Given the description of an element on the screen output the (x, y) to click on. 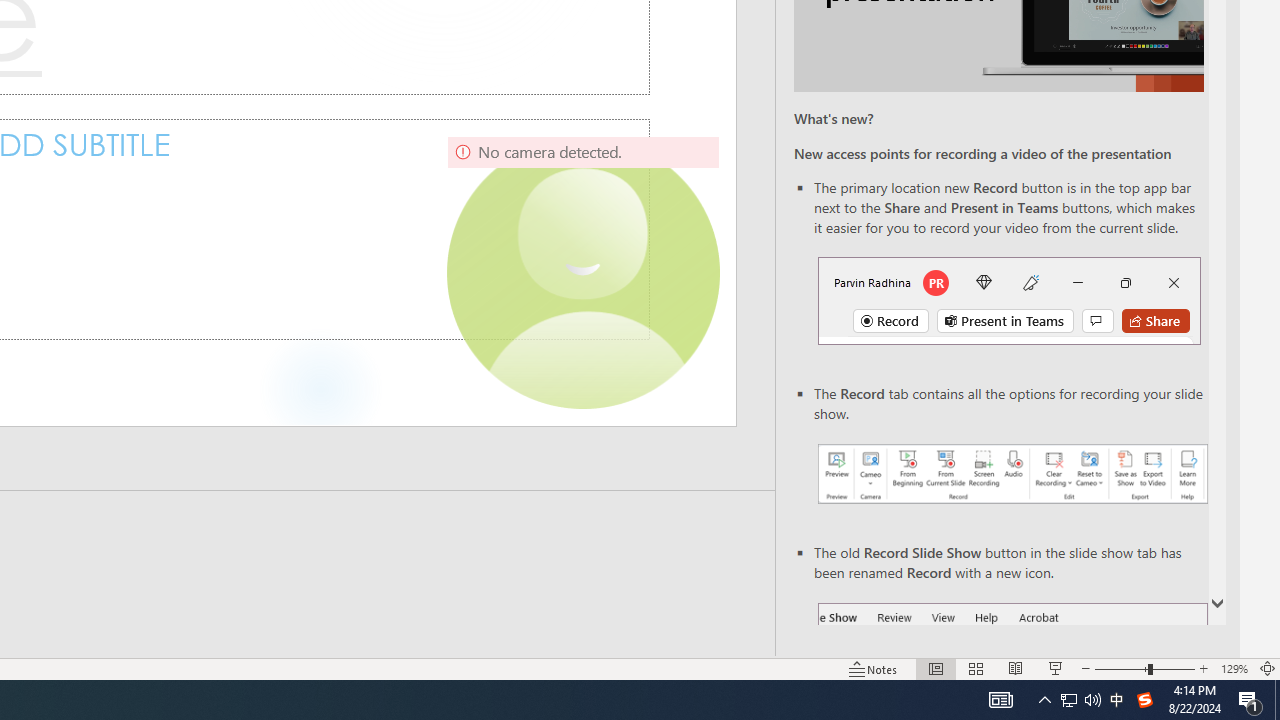
Record your presentations screenshot one (1012, 473)
